Given the description of an element on the screen output the (x, y) to click on. 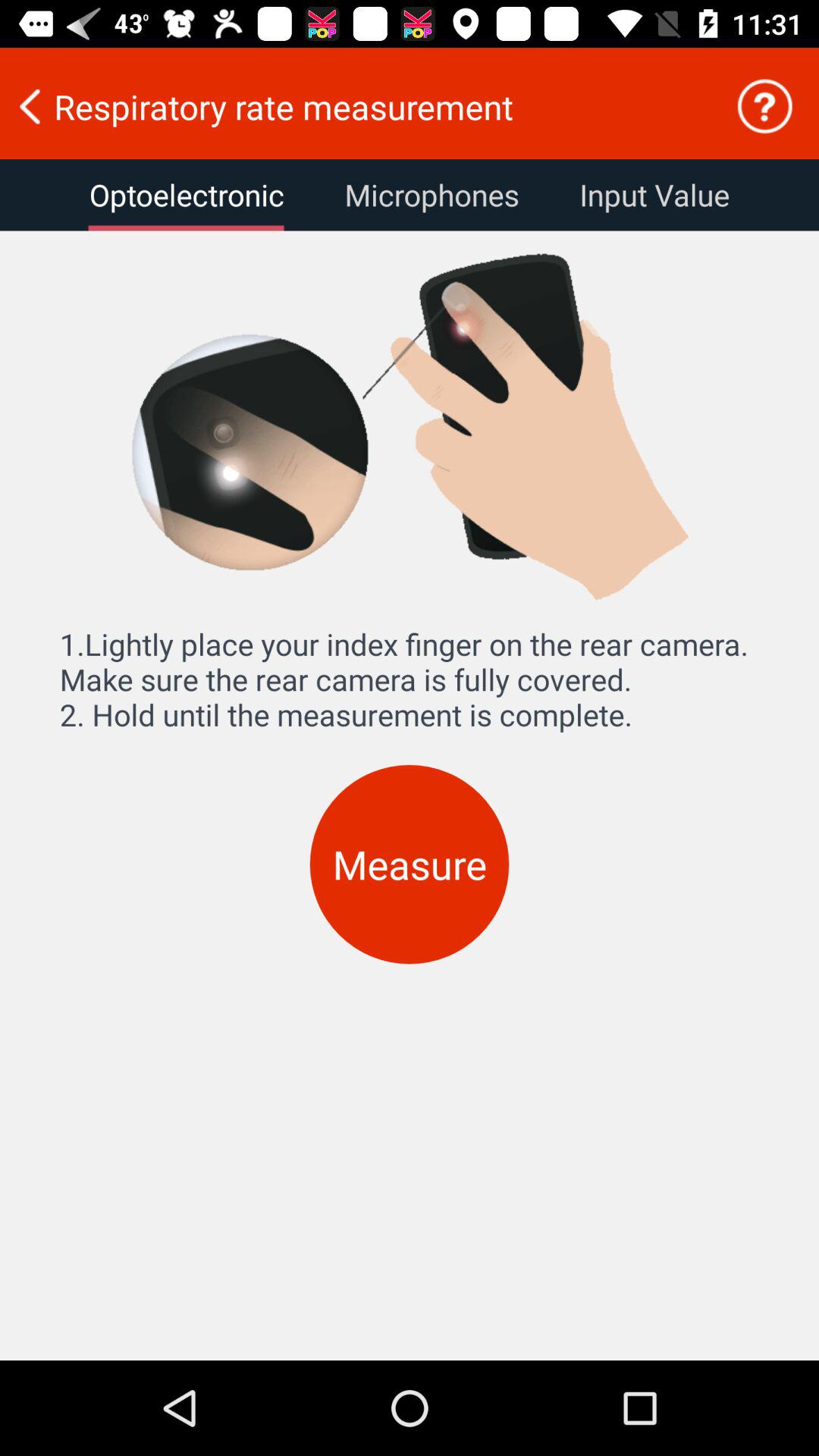
open icon to the right of microphones (654, 194)
